Given the description of an element on the screen output the (x, y) to click on. 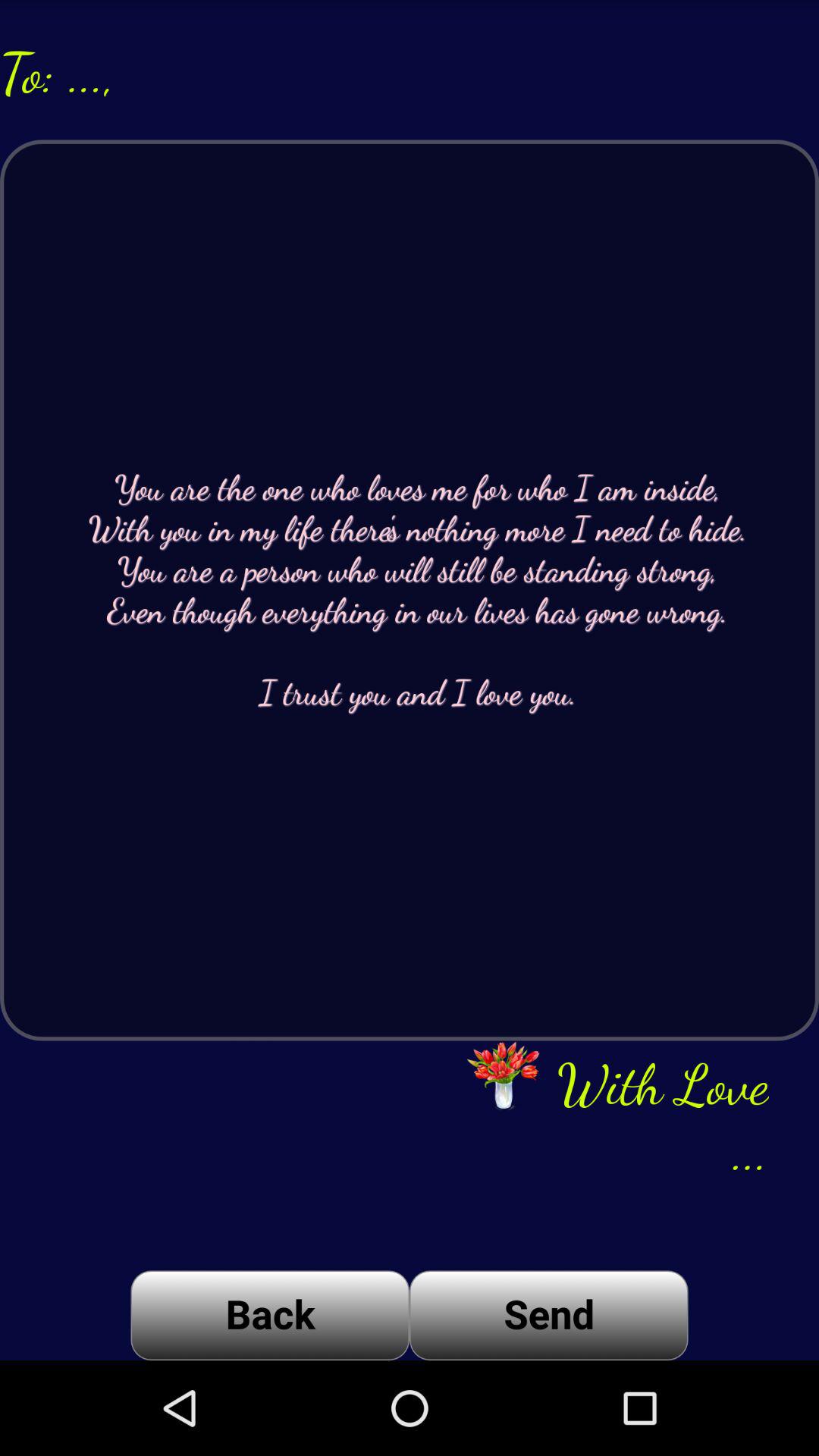
launch you are the icon (409, 589)
